Given the description of an element on the screen output the (x, y) to click on. 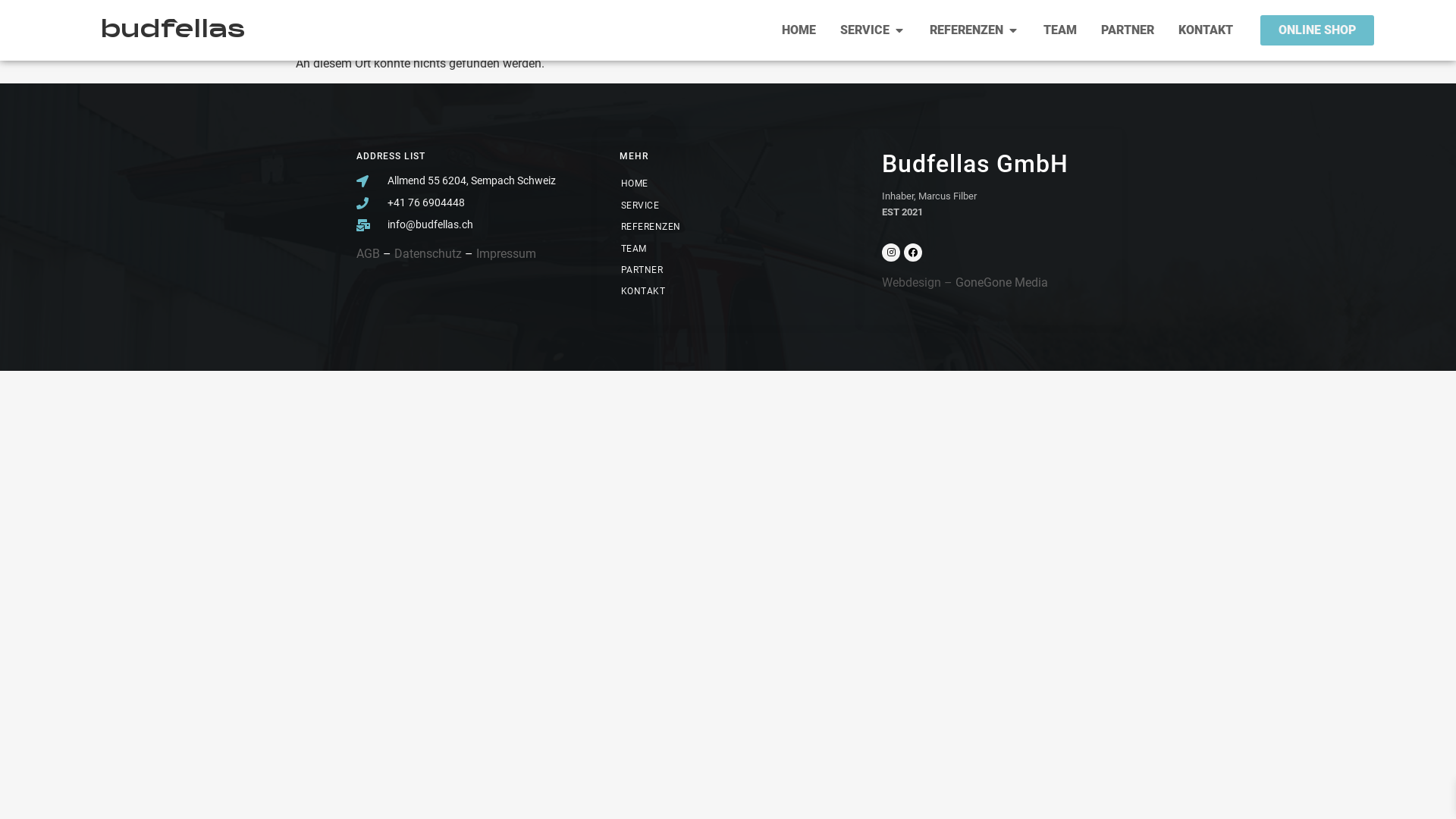
TEAM Element type: text (721, 248)
SERVICE Element type: text (721, 205)
PARTNER Element type: text (721, 269)
Impressum Element type: text (506, 253)
ONLINE SHOP Element type: text (1317, 30)
KONTAKT Element type: text (721, 290)
HOME Element type: text (798, 30)
TEAM Element type: text (1059, 30)
REFERENZEN Element type: text (721, 226)
PARTNER Element type: text (1127, 30)
budfellas Element type: text (172, 30)
AGB Element type: text (367, 253)
HOME Element type: text (721, 183)
Datenschutz Element type: text (427, 253)
KONTAKT Element type: text (1205, 30)
GoneGone Media Element type: text (1001, 282)
REFERENZEN Element type: text (966, 30)
info@budfellas.ch Element type: text (465, 224)
SERVICE Element type: text (864, 30)
